Given the description of an element on the screen output the (x, y) to click on. 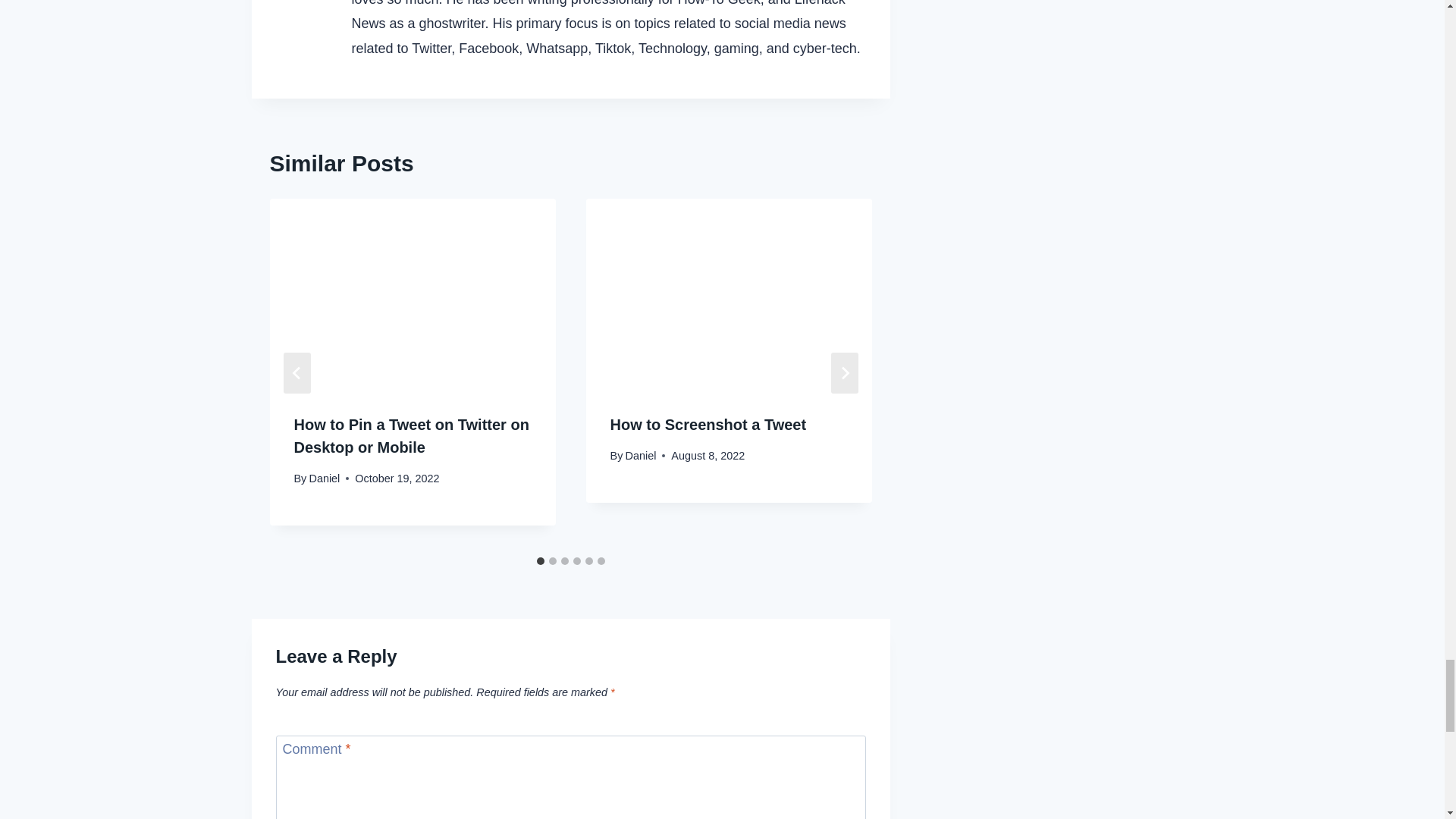
Daniel (641, 455)
Daniel (323, 478)
How to Screenshot a Tweet (708, 424)
How to Pin a Tweet on Twitter on Desktop or Mobile (411, 435)
